Given the description of an element on the screen output the (x, y) to click on. 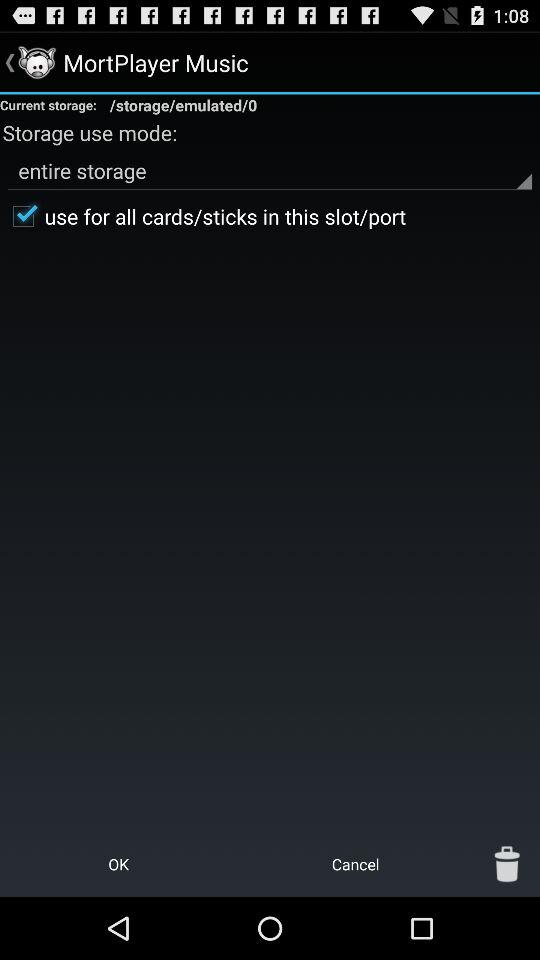
delete (507, 864)
